Given the description of an element on the screen output the (x, y) to click on. 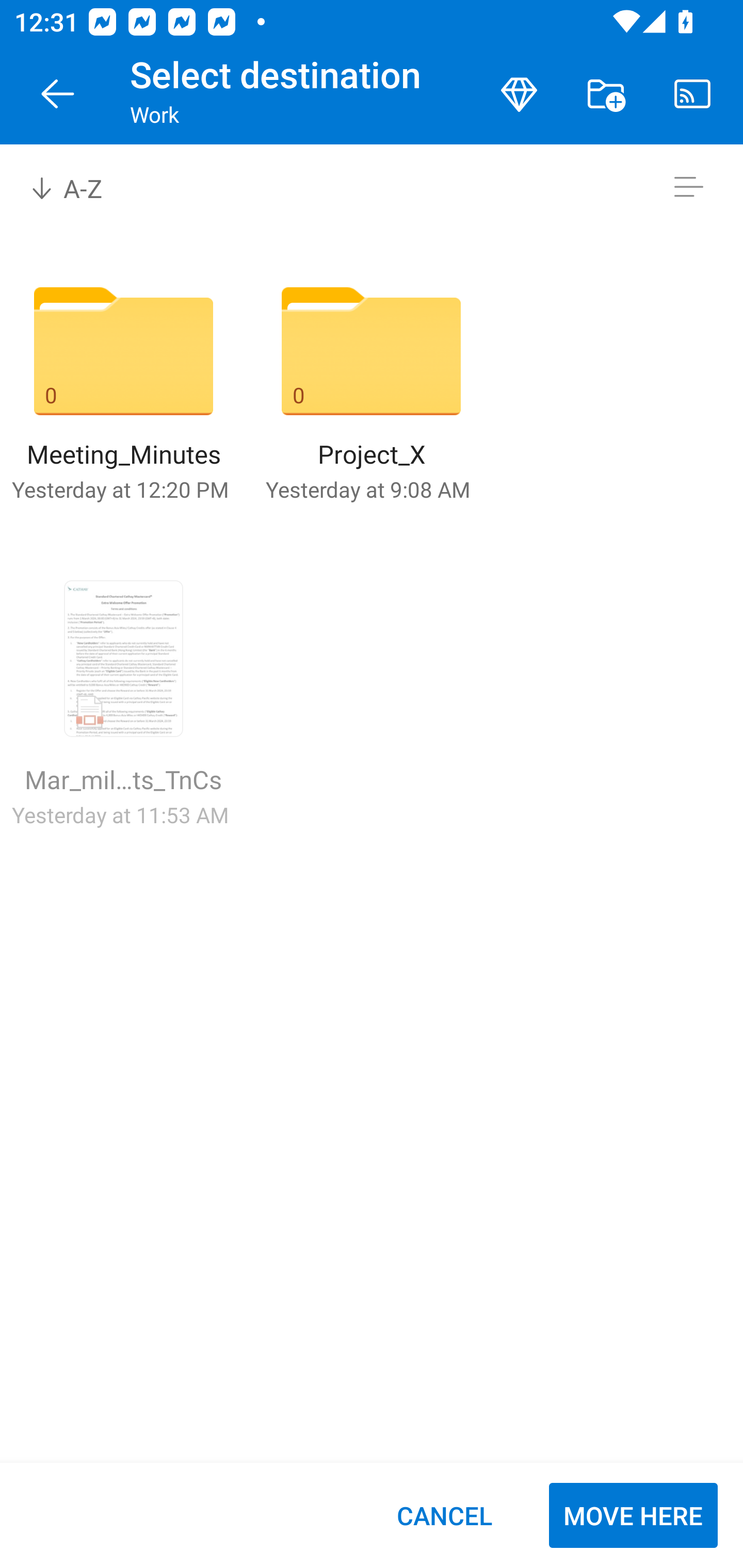
Navigate Up (57, 93)
Cast. Disconnected (692, 93)
Premium button (518, 93)
More actions button (605, 93)
A-Z Sort by combo box, sort by name, A to Z (80, 187)
Switch to list view (688, 187)
Yesterday at 12:20 PM (119, 489)
Yesterday at 9:08 AM (367, 489)
Yesterday at 11:53 AM (119, 814)
CANCEL (443, 1515)
MOVE HERE (633, 1515)
